Given the description of an element on the screen output the (x, y) to click on. 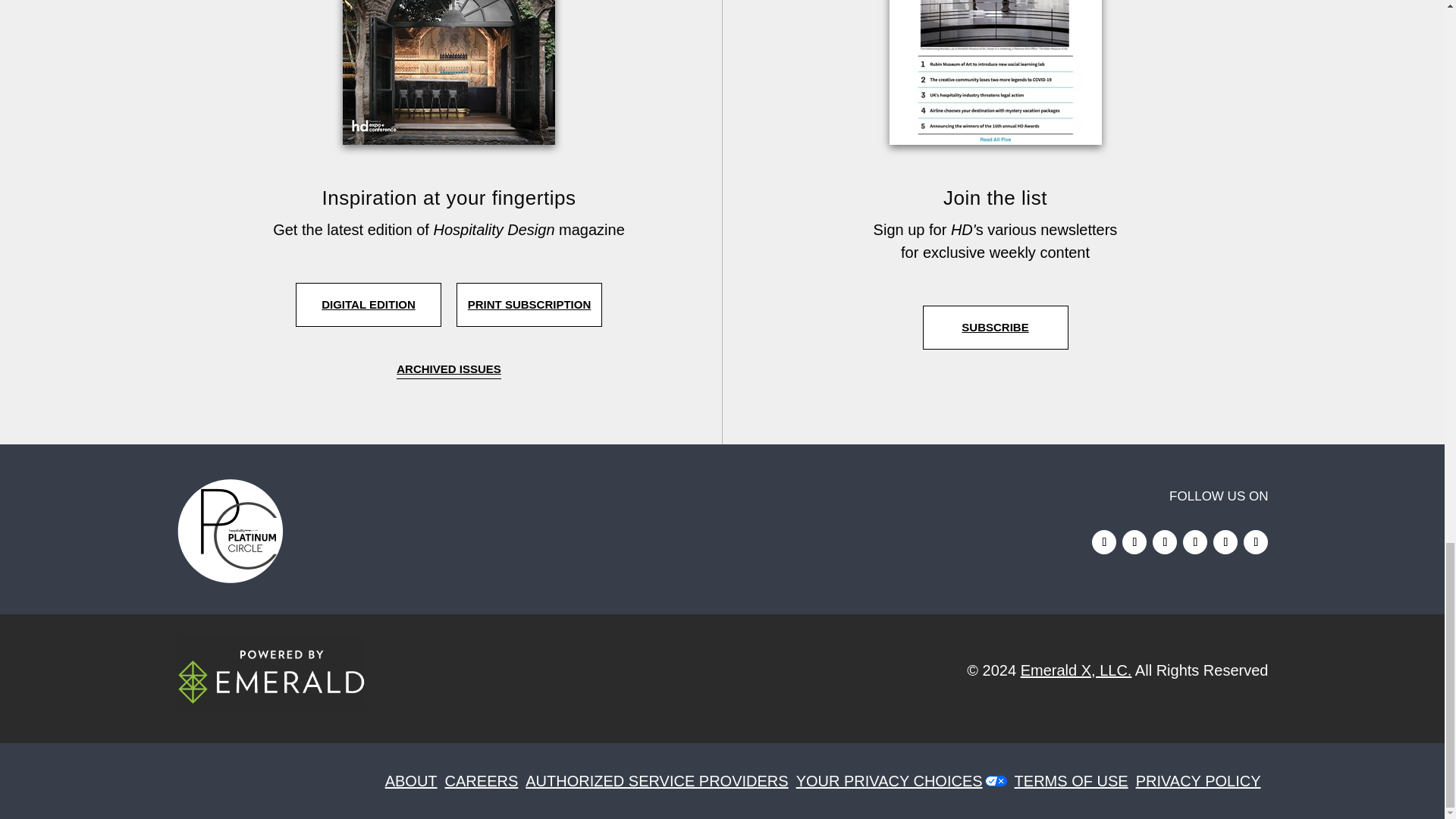
Follow on Facebook (1164, 541)
Follow on Youtube (1255, 541)
DIGITAL EDITION (368, 304)
about (415, 781)
TERMS OF USE (1074, 781)
Emerald X, LLC. (1076, 669)
preview-full-Newsletter-Five-on-Friday (994, 72)
PRIVACY POLICY (1201, 781)
authorized-service-providers (659, 781)
careers (485, 781)
Follow on Instagram (1104, 541)
AUTHORIZED SERVICE PROVIDERS (659, 781)
ARCHIVED ISSUES (448, 370)
terms-of-use (1074, 781)
Follow on LinkedIn (1134, 541)
